Given the description of an element on the screen output the (x, y) to click on. 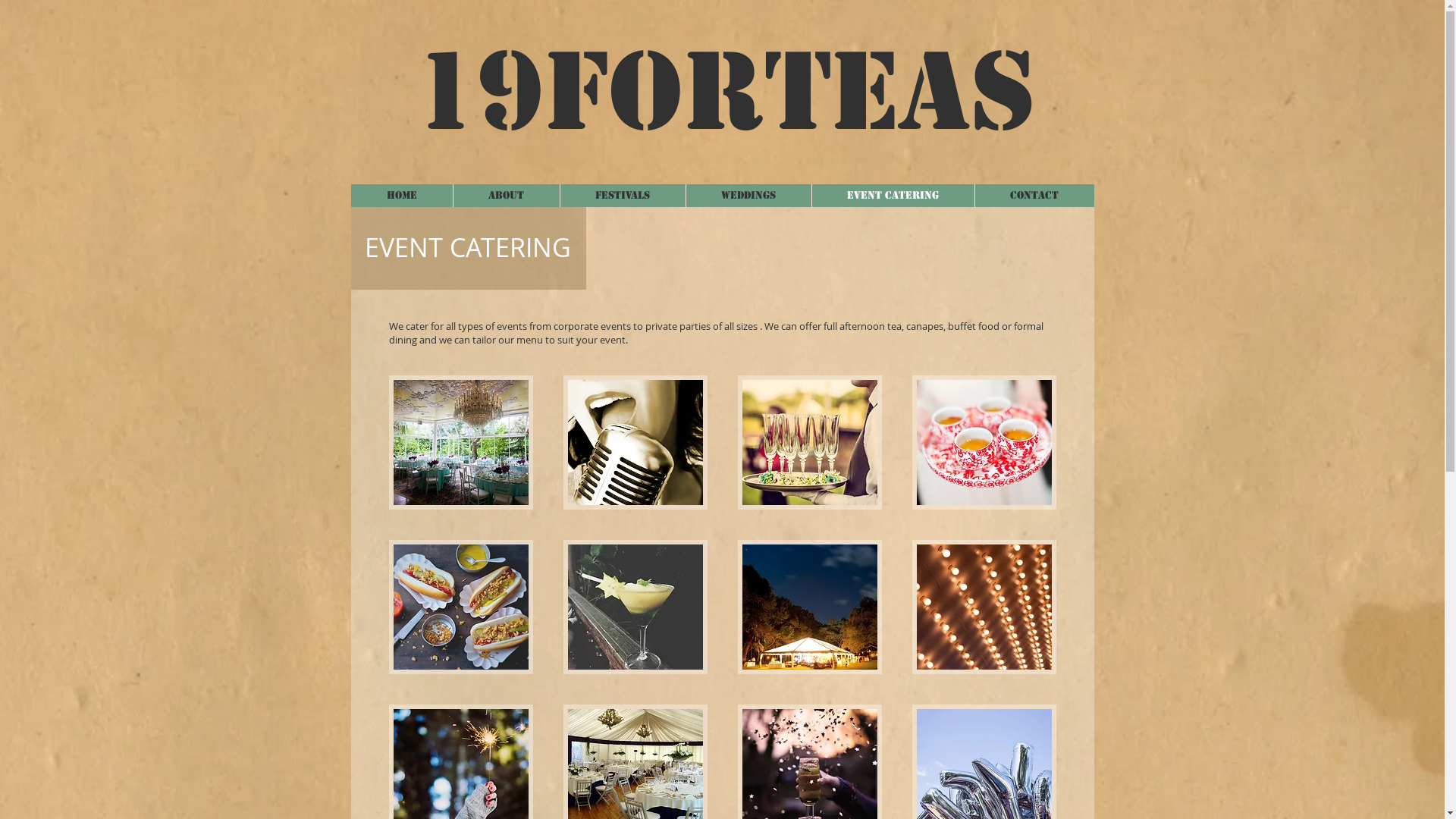
FESTIVALS Element type: text (622, 195)
EVENT CATERING Element type: text (892, 195)
CONTACT Element type: text (1033, 195)
WEDDINGS Element type: text (748, 195)
ABOUT Element type: text (504, 195)
HOME Element type: text (400, 195)
